Given the description of an element on the screen output the (x, y) to click on. 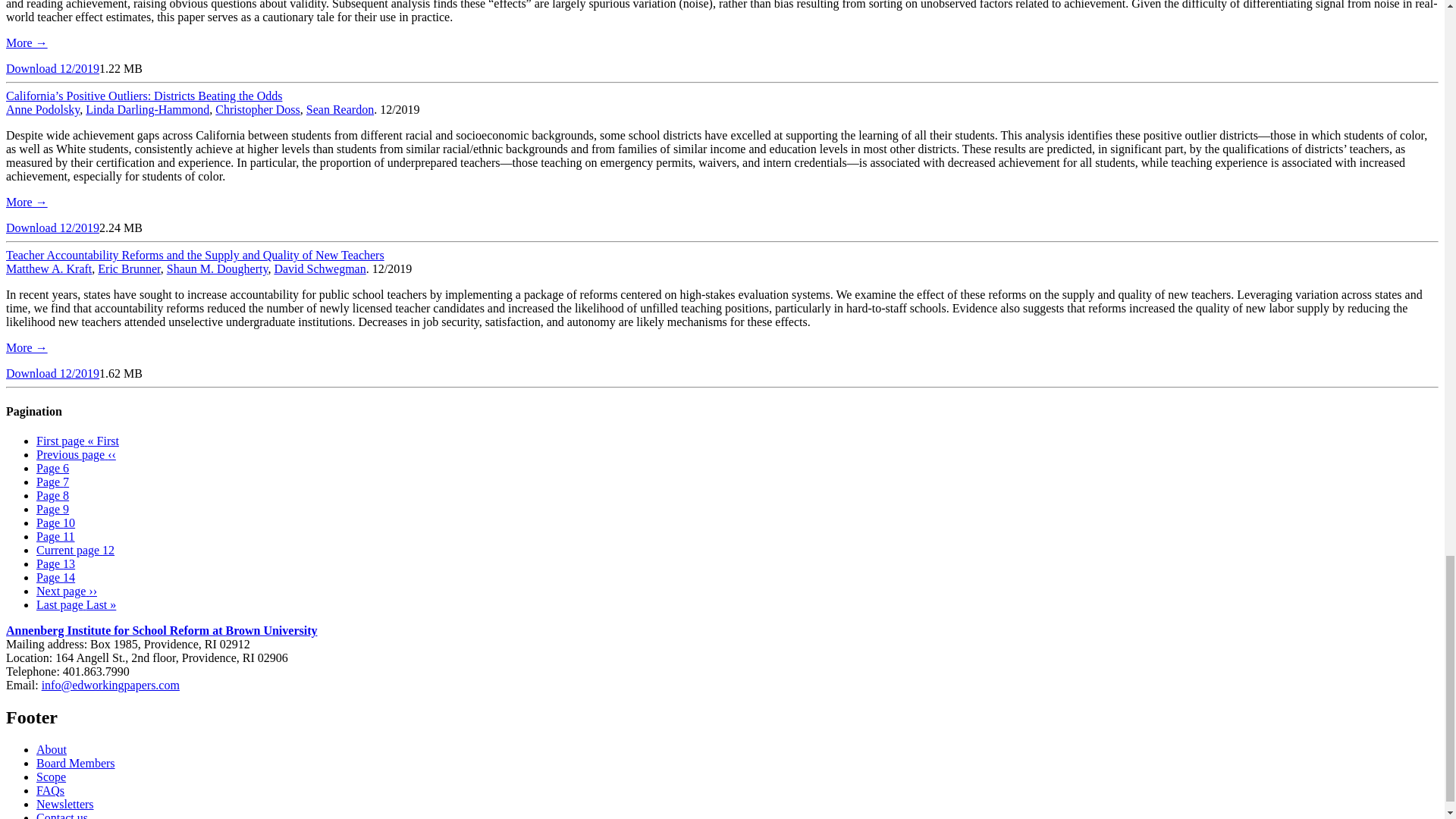
Open file in new window (52, 373)
Go to page 8 (52, 495)
Go to page 6 (52, 468)
Go to page 10 (55, 522)
Go to page 7 (52, 481)
Open file in new window (52, 227)
Go to first page (77, 440)
Go to previous page (76, 454)
Open file in new window (52, 68)
Go to page 9 (52, 508)
Go to page 11 (55, 535)
